Given the description of an element on the screen output the (x, y) to click on. 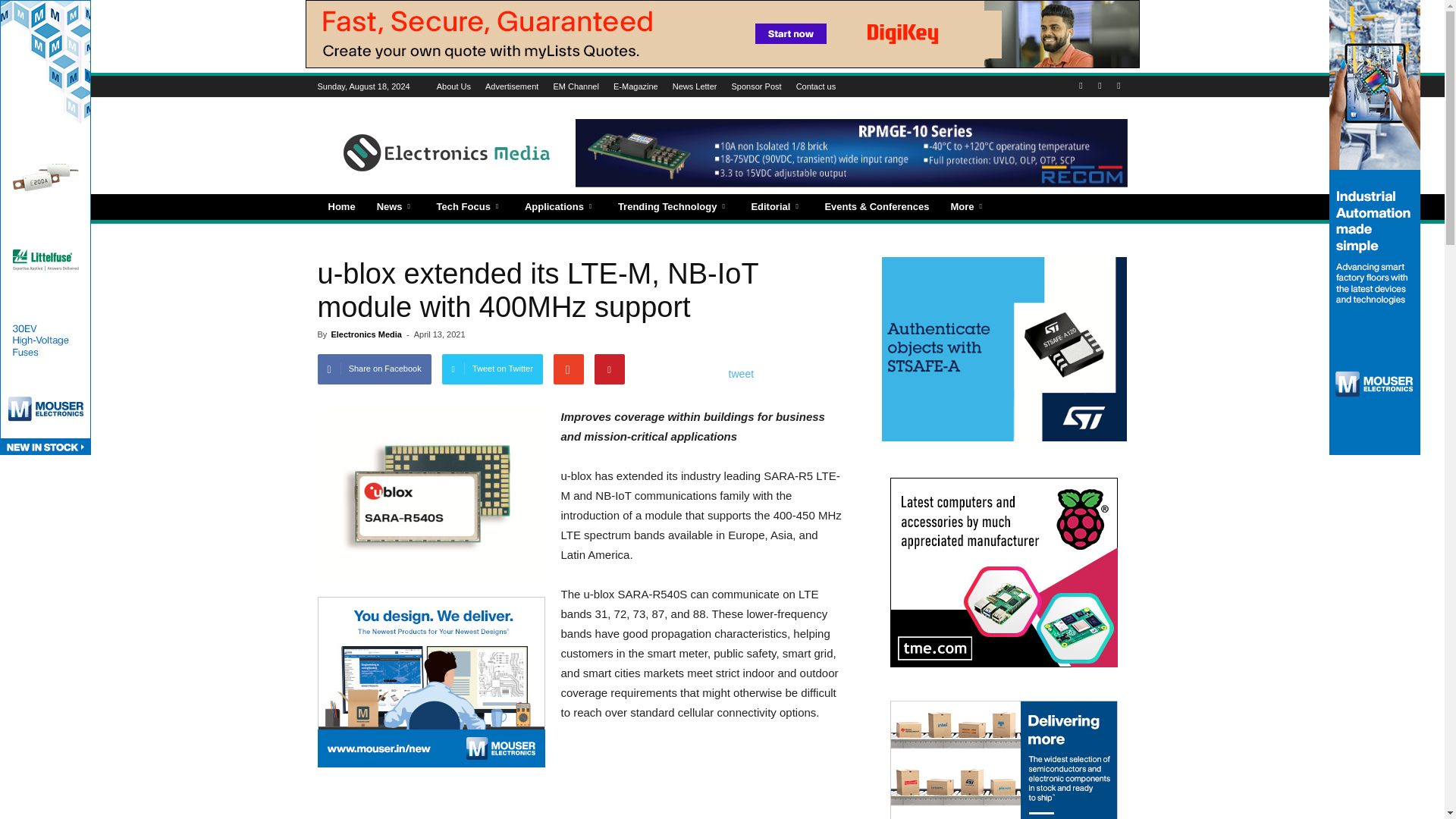
IoT module with 400MHz support (430, 493)
Advertisement (580, 796)
advertisement (430, 682)
